Given the description of an element on the screen output the (x, y) to click on. 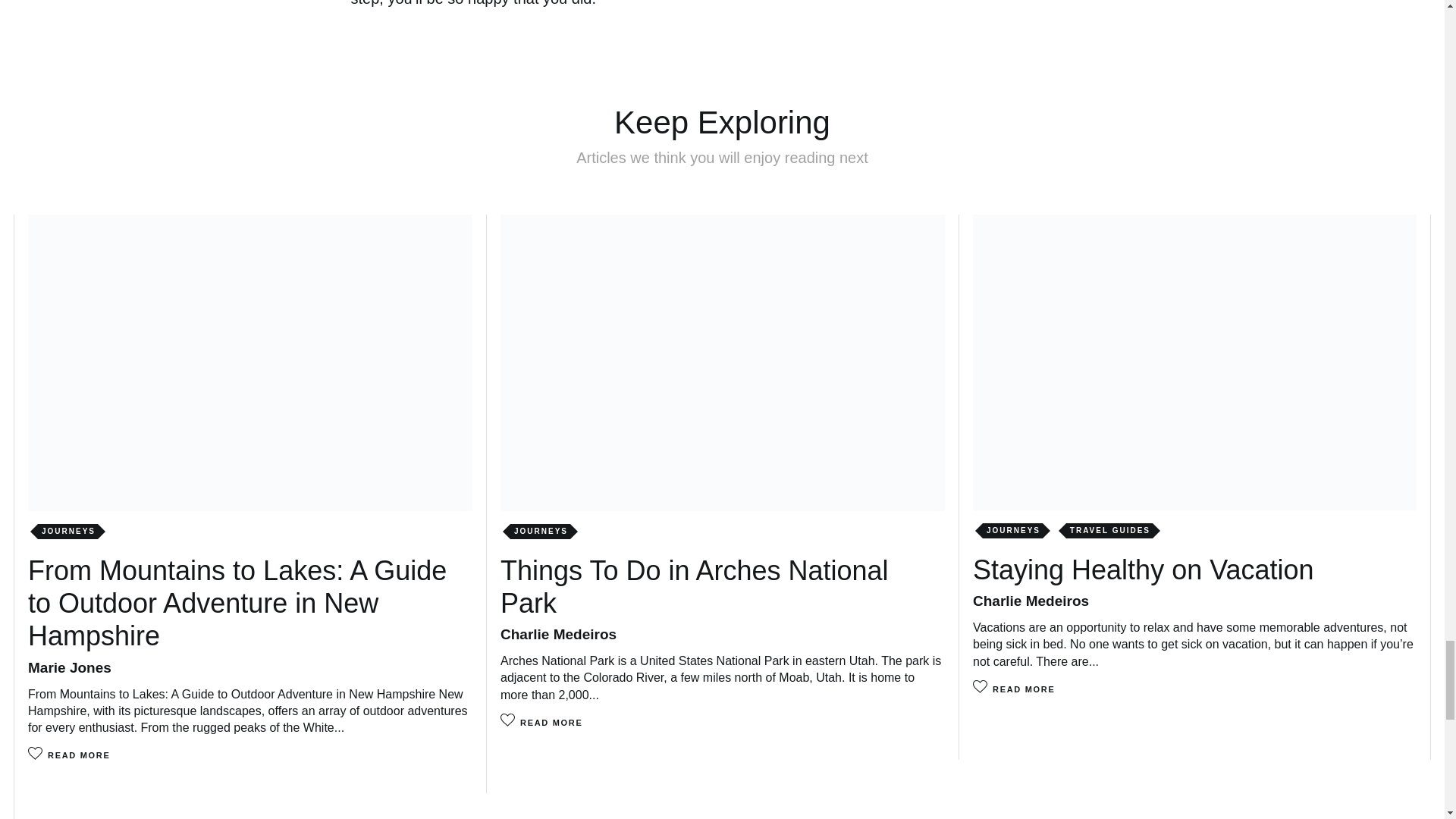
JOURNEYS (67, 531)
JOURNEYS (1012, 530)
Things To Do in Arches National Park (694, 587)
Marie Jones (69, 667)
TRAVEL GUIDES (1109, 530)
JOURNEYS (540, 531)
Charlie Medeiros (557, 634)
READ MORE (551, 722)
READ MORE (1023, 688)
READ MORE (79, 755)
